Given the description of an element on the screen output the (x, y) to click on. 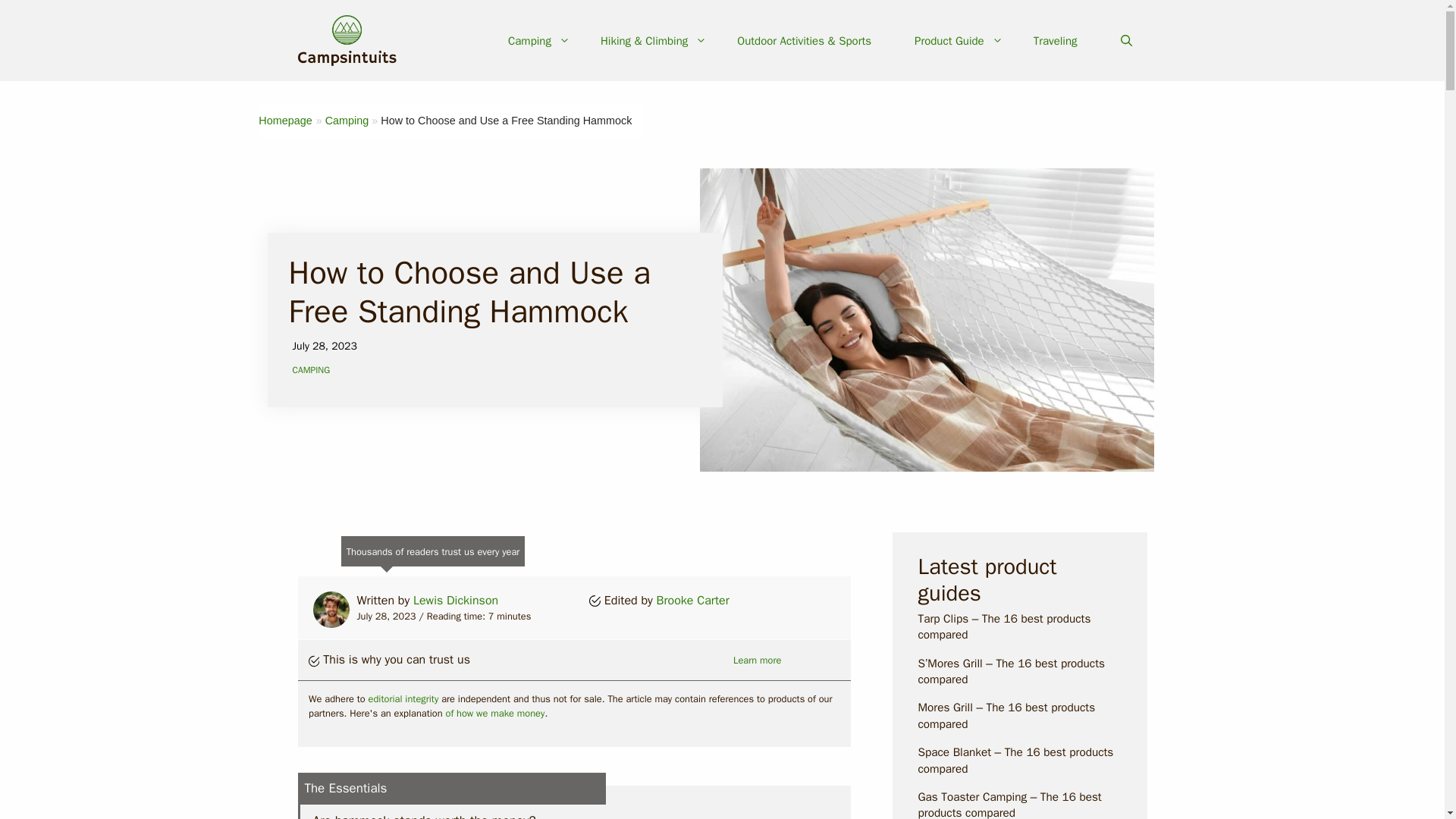
How to Choose and Use a Free Standing Hammock (505, 120)
Camping (539, 40)
Product Guide (958, 40)
Category Name (346, 120)
Author-Name (455, 600)
Author-Name (692, 600)
